Given the description of an element on the screen output the (x, y) to click on. 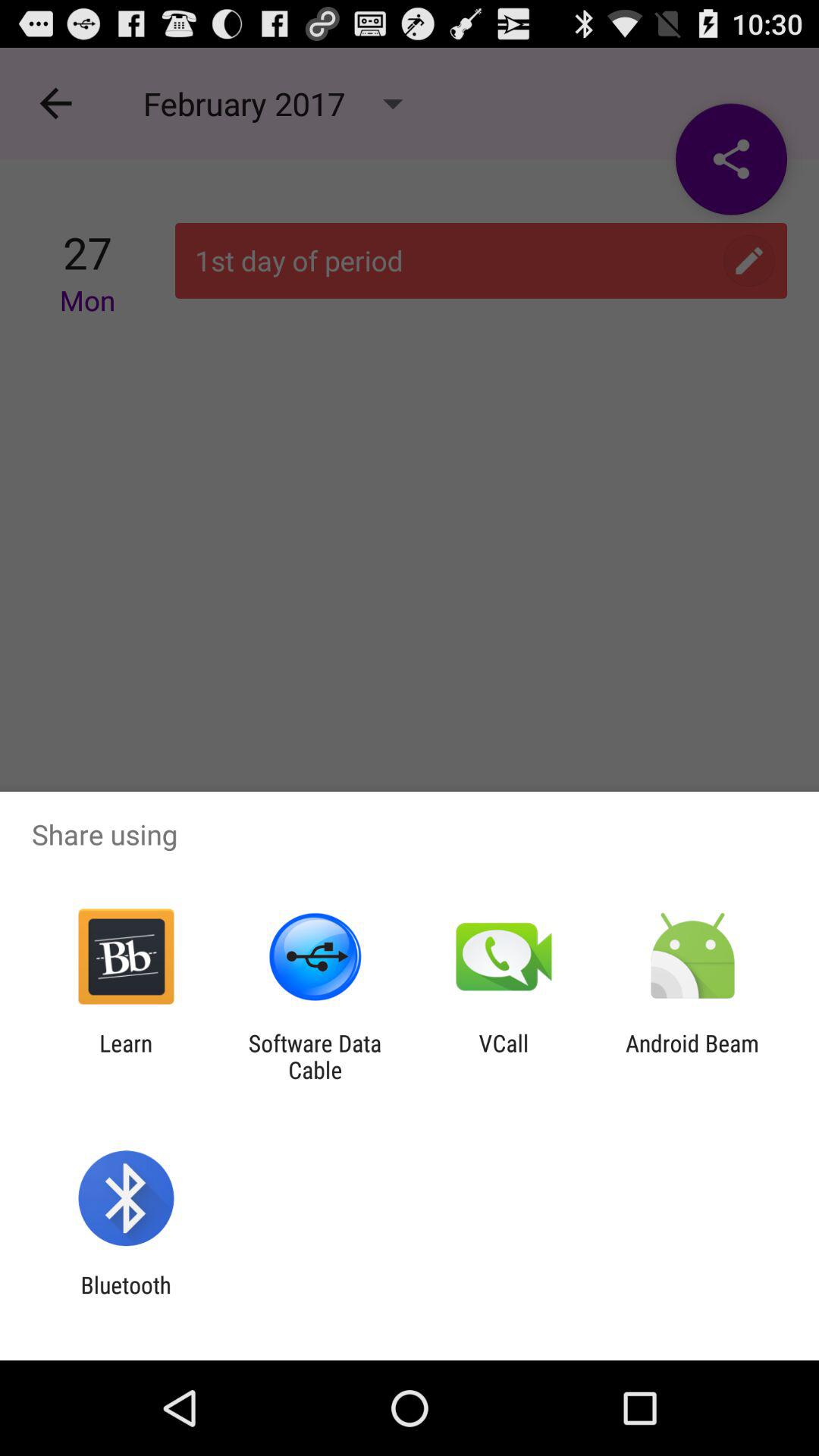
choose app next to the android beam icon (503, 1056)
